Given the description of an element on the screen output the (x, y) to click on. 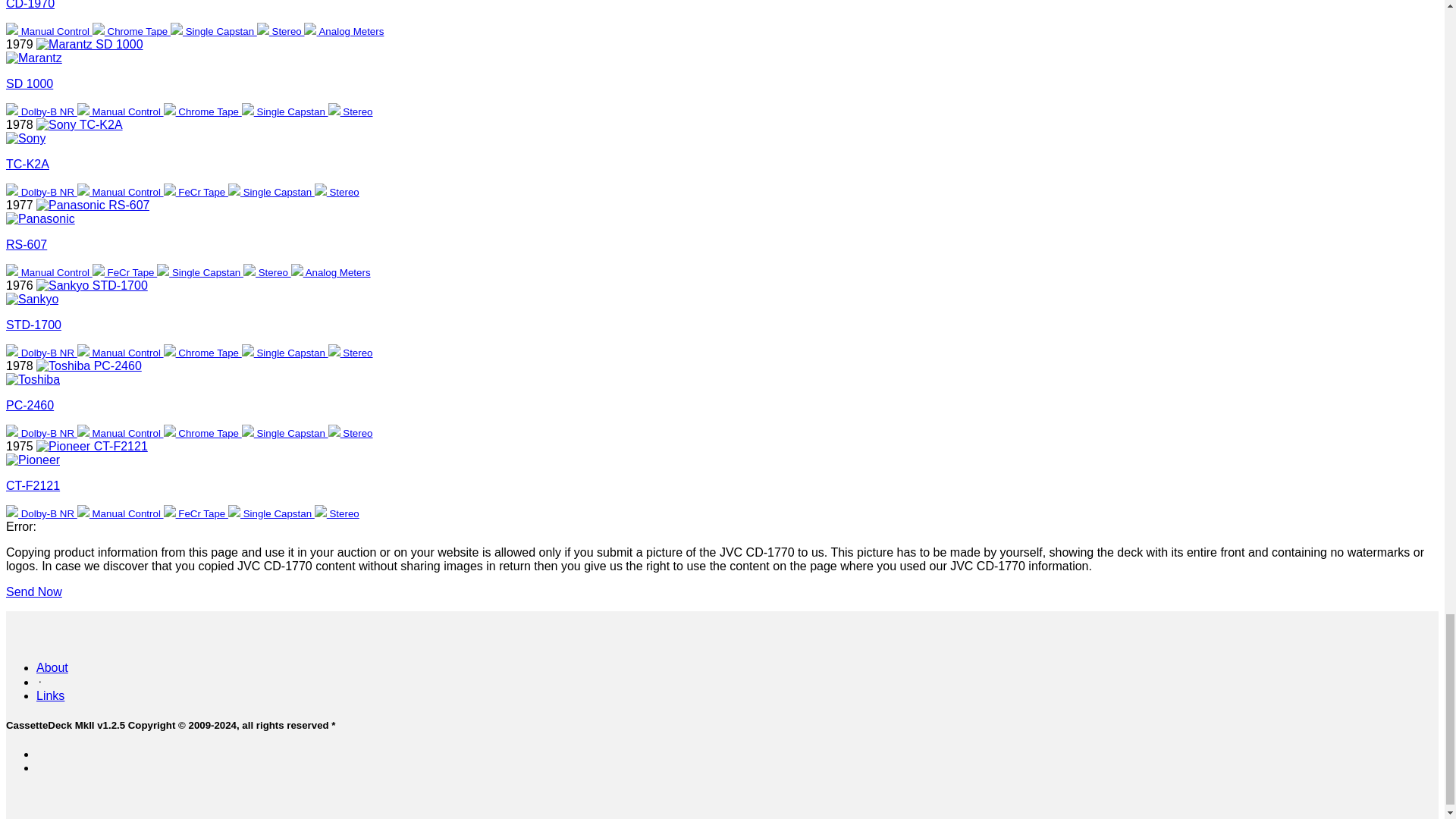
Links (50, 695)
Send Now (33, 591)
About (52, 667)
